Given the description of an element on the screen output the (x, y) to click on. 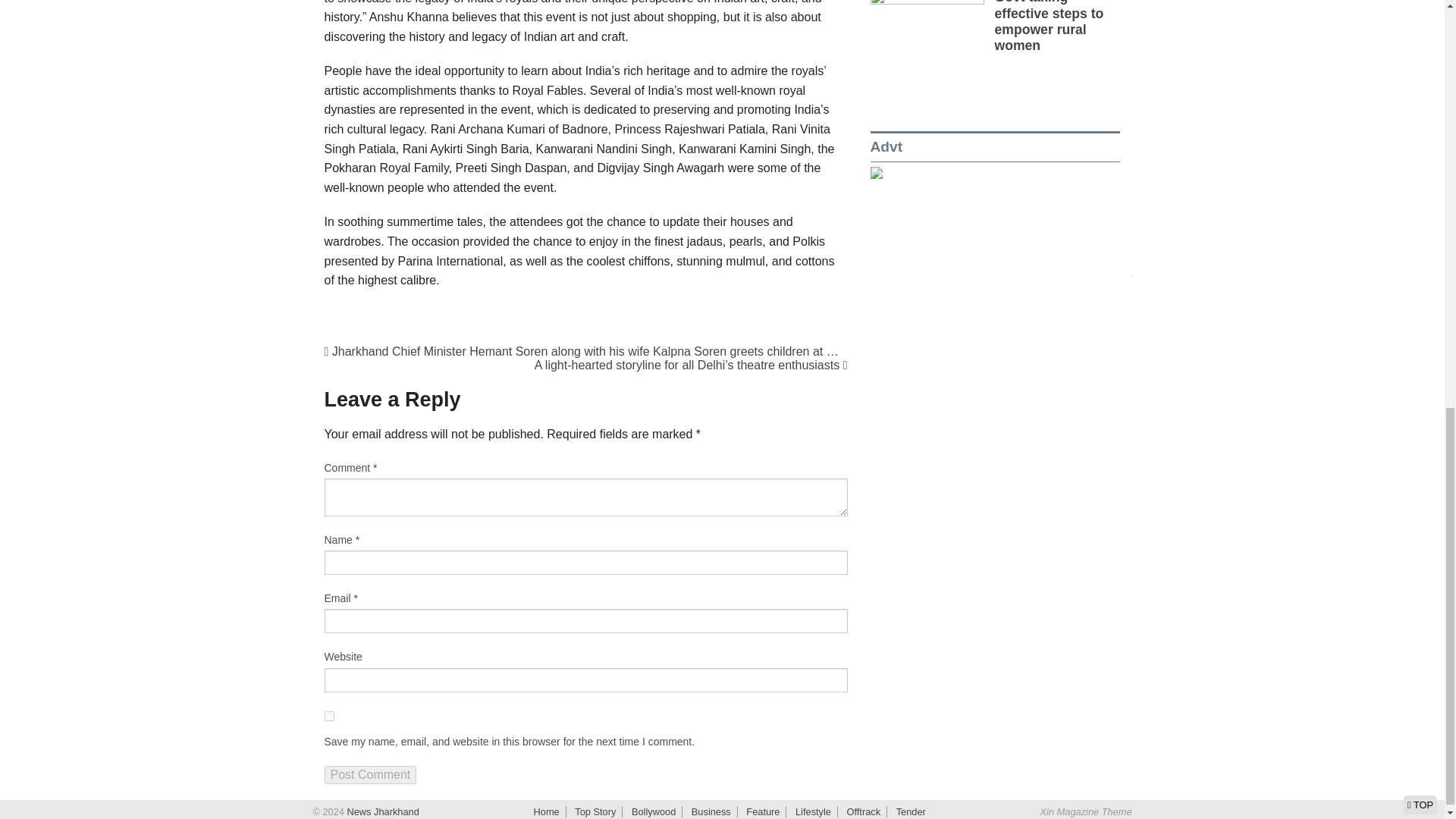
yes (329, 716)
Post Comment (370, 774)
Xin Magazine Theme (1086, 811)
News Jharkhand (381, 811)
Business (710, 811)
Home (546, 811)
Govt taking effective steps to empower rural women (1048, 26)
Post Comment (370, 774)
Bollywood (653, 811)
Top Story (595, 811)
